Given the description of an element on the screen output the (x, y) to click on. 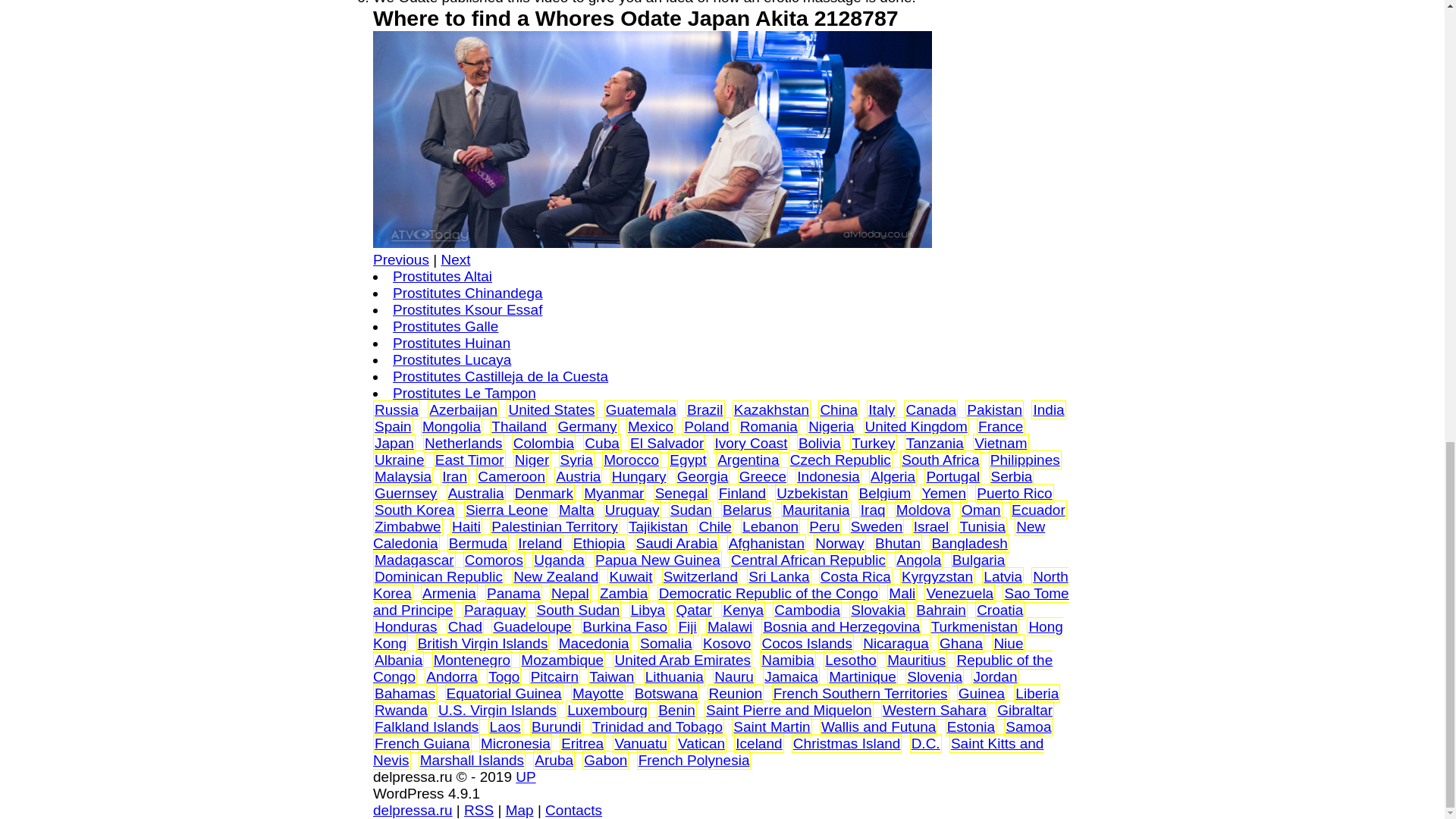
United States (551, 409)
Mexico (649, 426)
Canada (930, 409)
Kazakhstan (771, 409)
Guatemala (641, 409)
Mongolia (451, 426)
Thailand (519, 426)
Spain (393, 426)
Brazil (705, 409)
Prostitutes Lucaya (452, 359)
Germany (586, 426)
Azerbaijan (463, 409)
Prostitutes Le Tampon (464, 392)
Pakistan (994, 409)
Prostitutes Odate (651, 139)
